Given the description of an element on the screen output the (x, y) to click on. 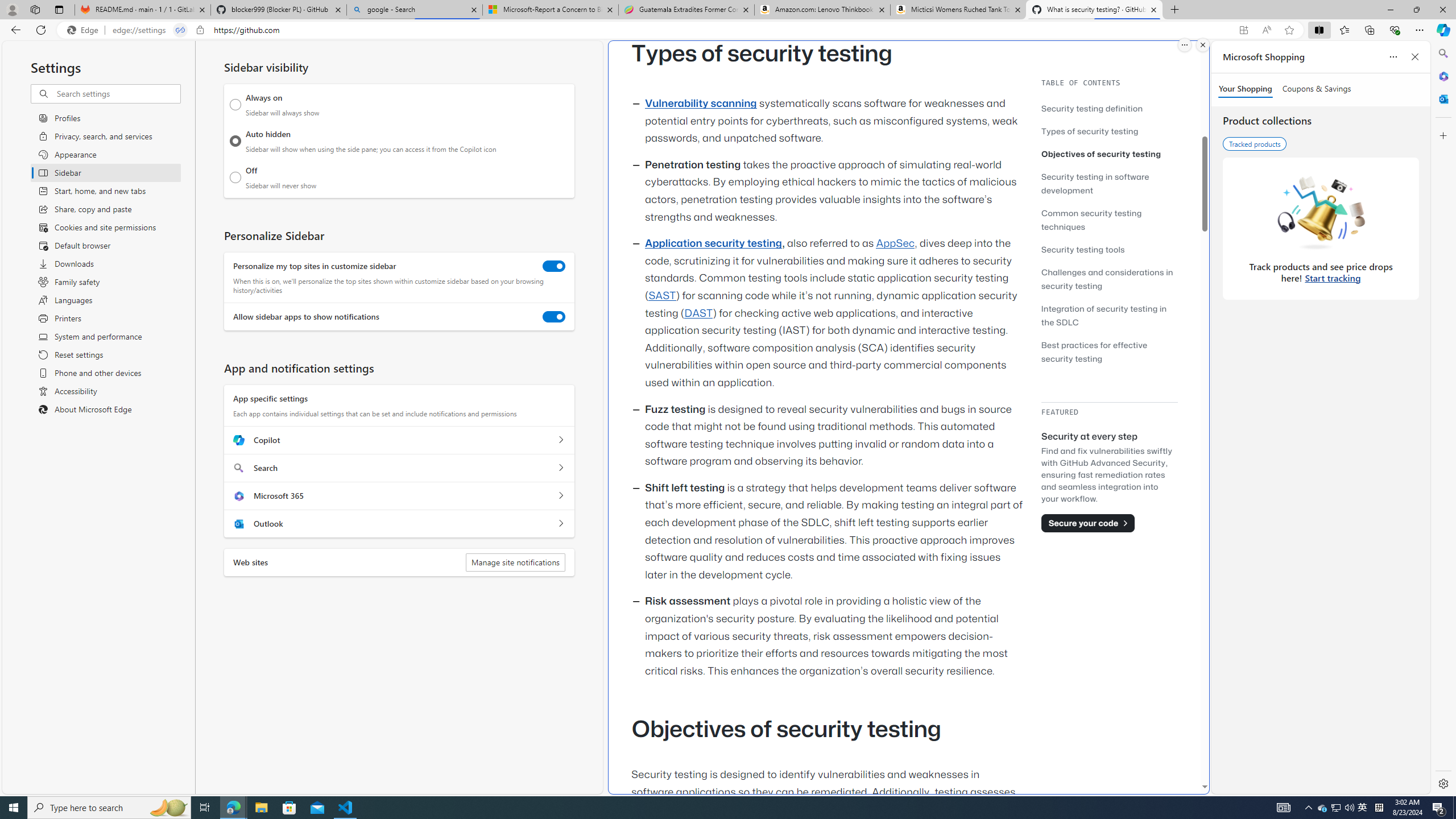
Edge (84, 29)
Off Sidebar will never show (235, 177)
Best practices for effective security testing (1094, 351)
Tabs in split screen (180, 29)
More options. (1183, 45)
Integration of security testing in the SDLC (1109, 315)
App available. Install GitHub (1243, 29)
Types of security testing (1089, 130)
Types of security testing (1109, 130)
